Given the description of an element on the screen output the (x, y) to click on. 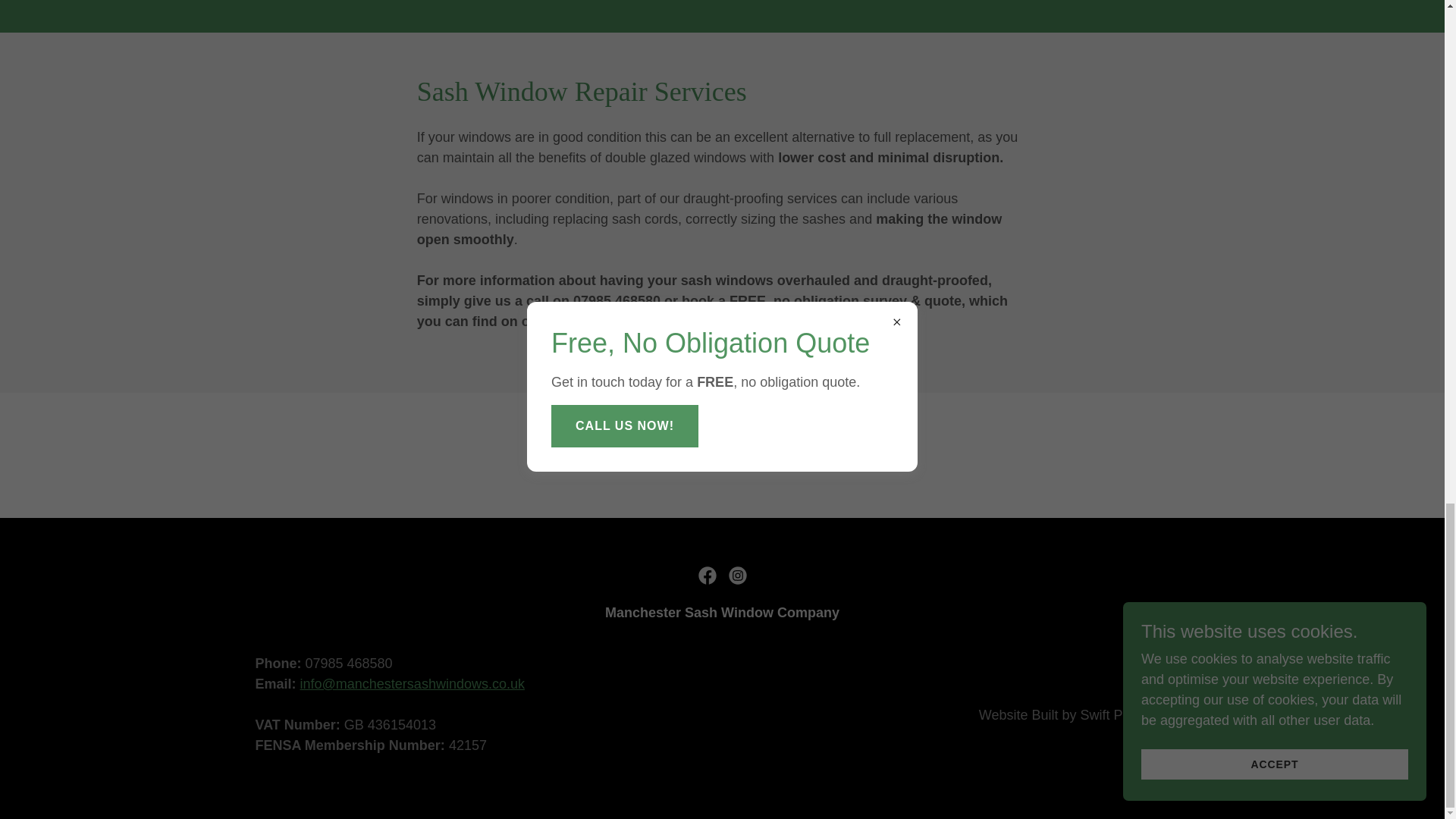
Contact Page (590, 321)
